Given the description of an element on the screen output the (x, y) to click on. 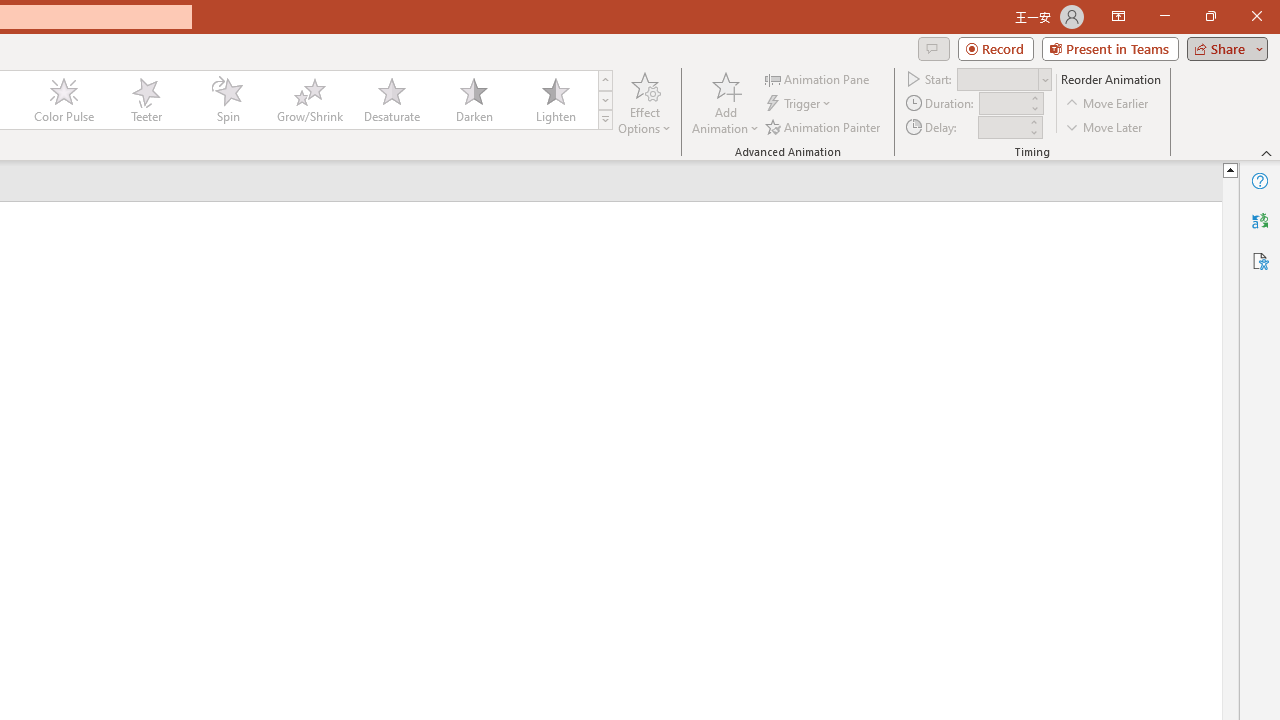
Add Animation (725, 102)
Animation Duration (1003, 103)
More (1033, 121)
Desaturate (391, 100)
Animation Styles (605, 120)
